Given the description of an element on the screen output the (x, y) to click on. 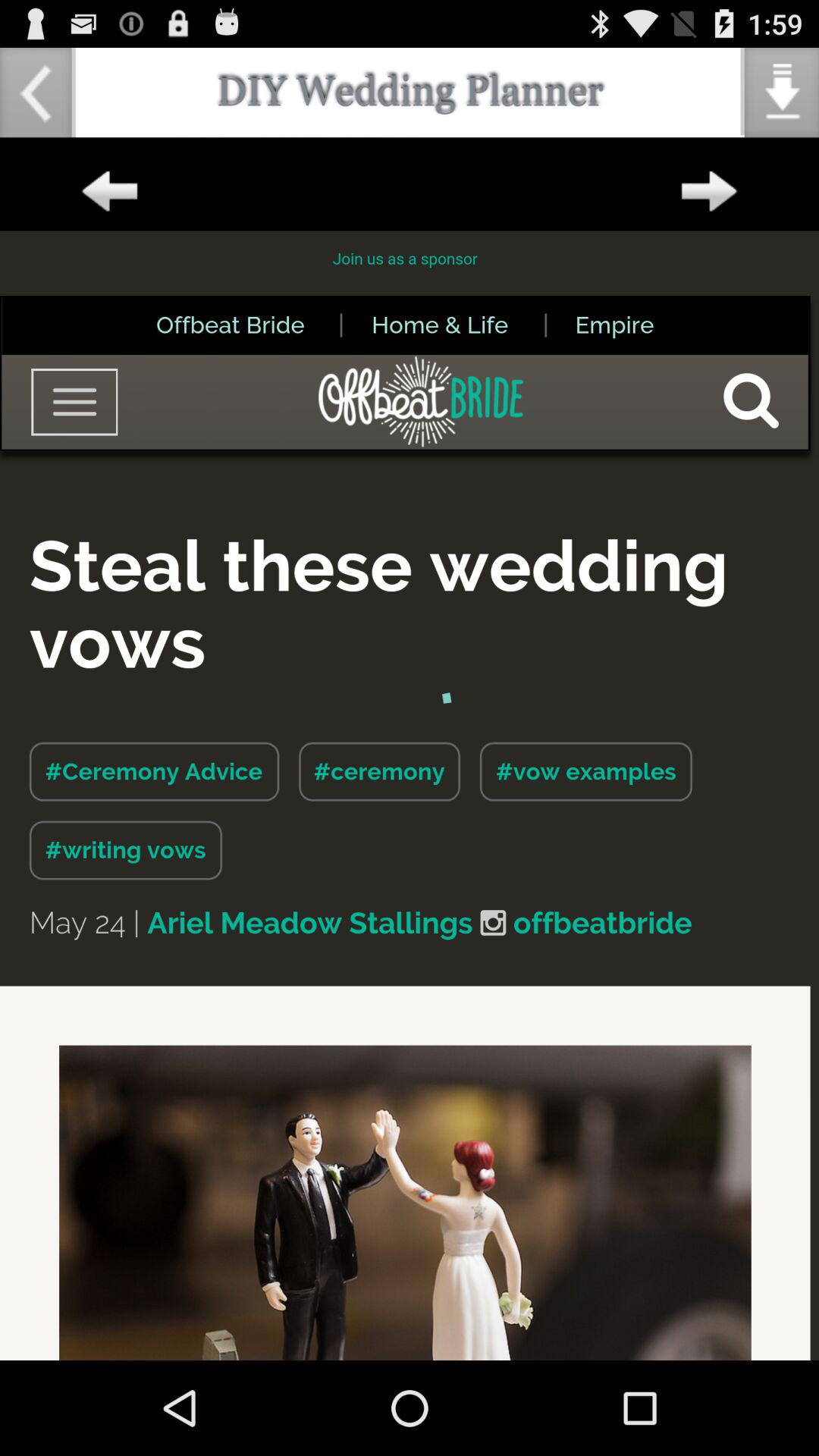
forward option (709, 192)
